Given the description of an element on the screen output the (x, y) to click on. 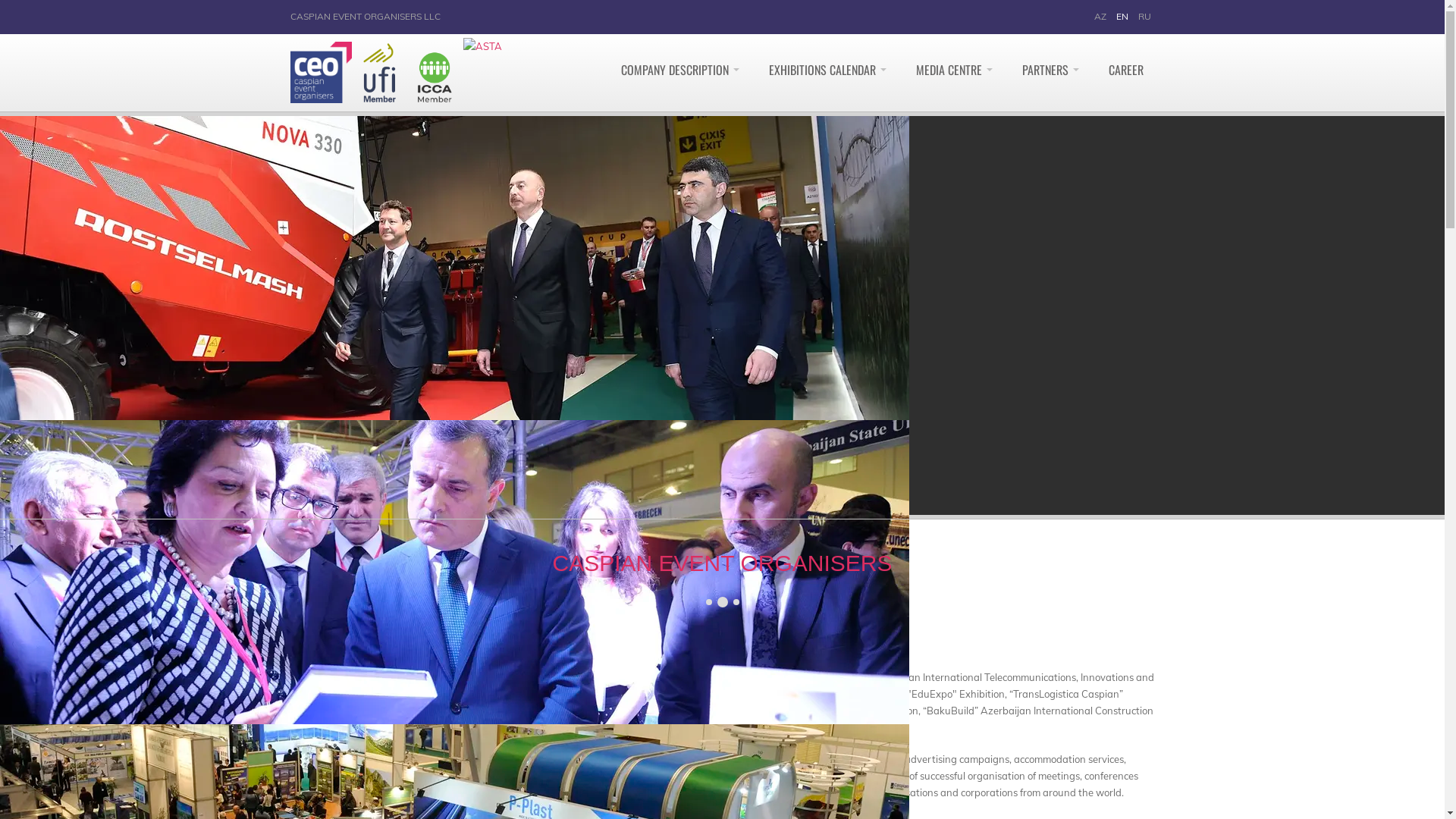
CAREER Element type: text (1125, 70)
EN Element type: text (1122, 15)
PARTNERS Element type: text (1049, 70)
COMPANY DESCRIPTION Element type: text (679, 70)
EXHIBITIONS CALENDAR Element type: text (826, 70)
MEDIA CENTRE Element type: text (953, 70)
AZ Element type: text (1099, 15)
RU Element type: text (1143, 15)
